Given the description of an element on the screen output the (x, y) to click on. 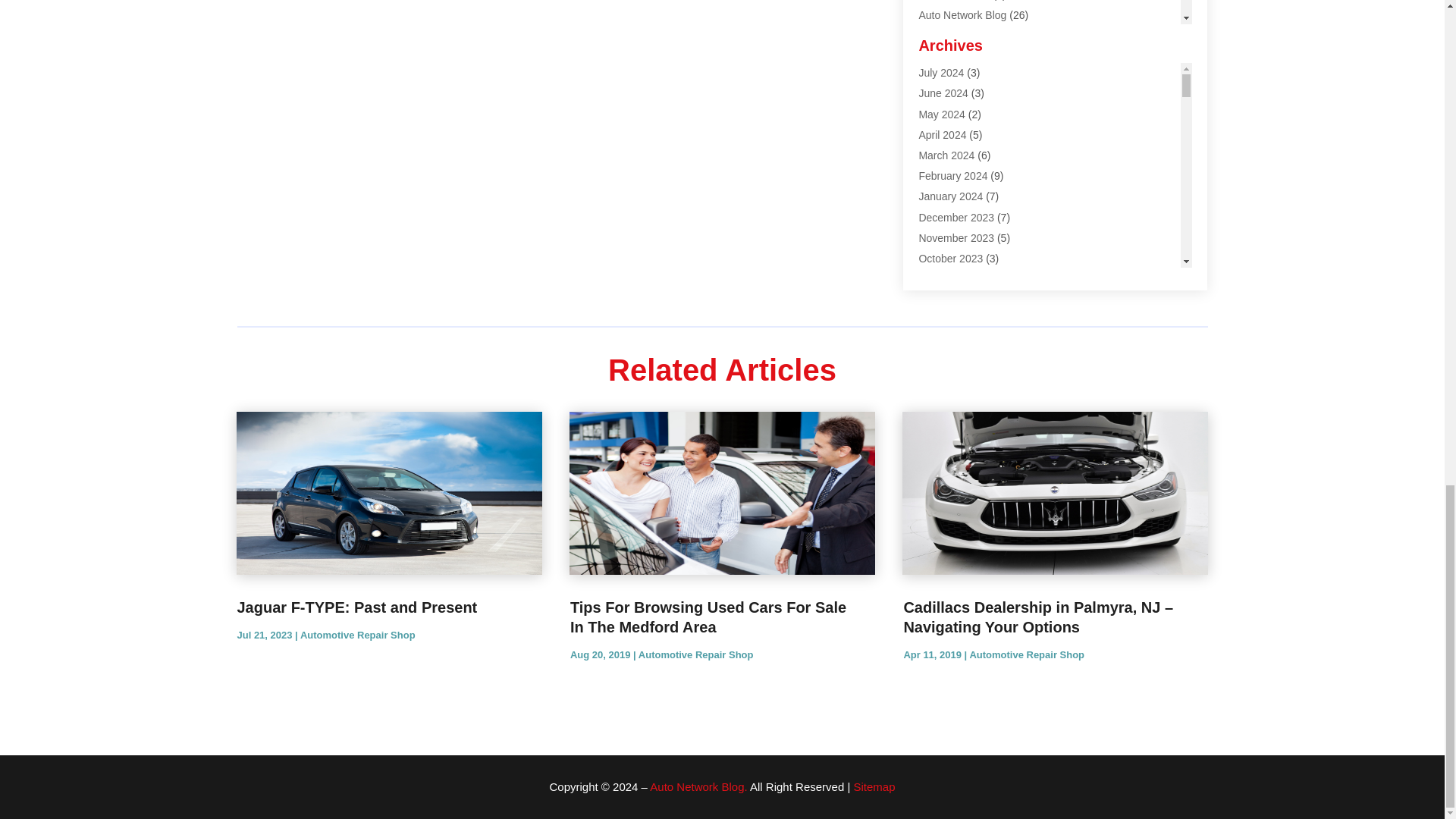
Auto Parts Store (956, 55)
Auto Insurance (954, 0)
Auto Parts (943, 35)
Auto Network Blog (962, 15)
